Given the description of an element on the screen output the (x, y) to click on. 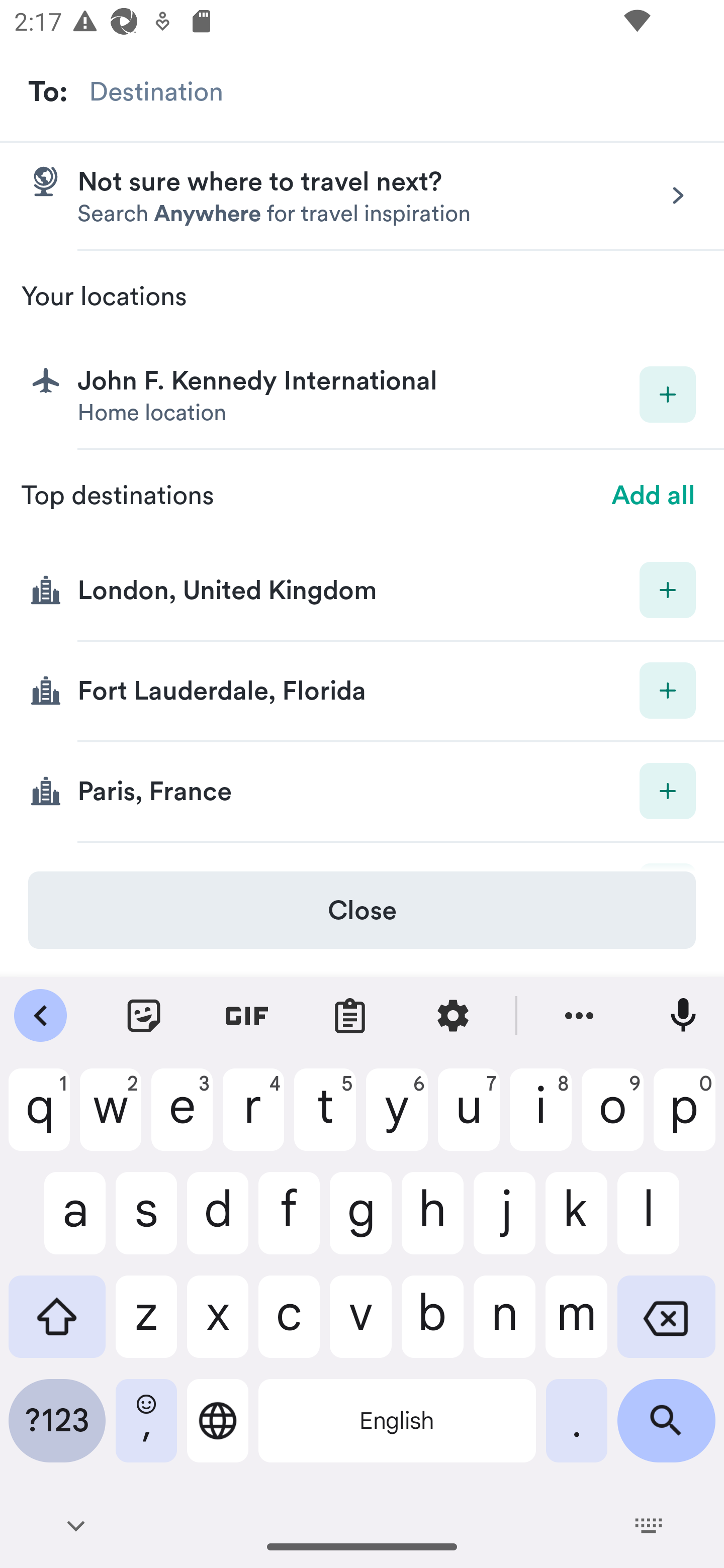
Add destination (667, 394)
Add all (653, 495)
Add destination London, United Kingdom (362, 590)
Add destination (667, 589)
Add destination Fort Lauderdale, Florida (362, 691)
Add destination (667, 689)
Add destination Paris, France (362, 791)
Add destination (667, 790)
Close (361, 909)
